Given the description of an element on the screen output the (x, y) to click on. 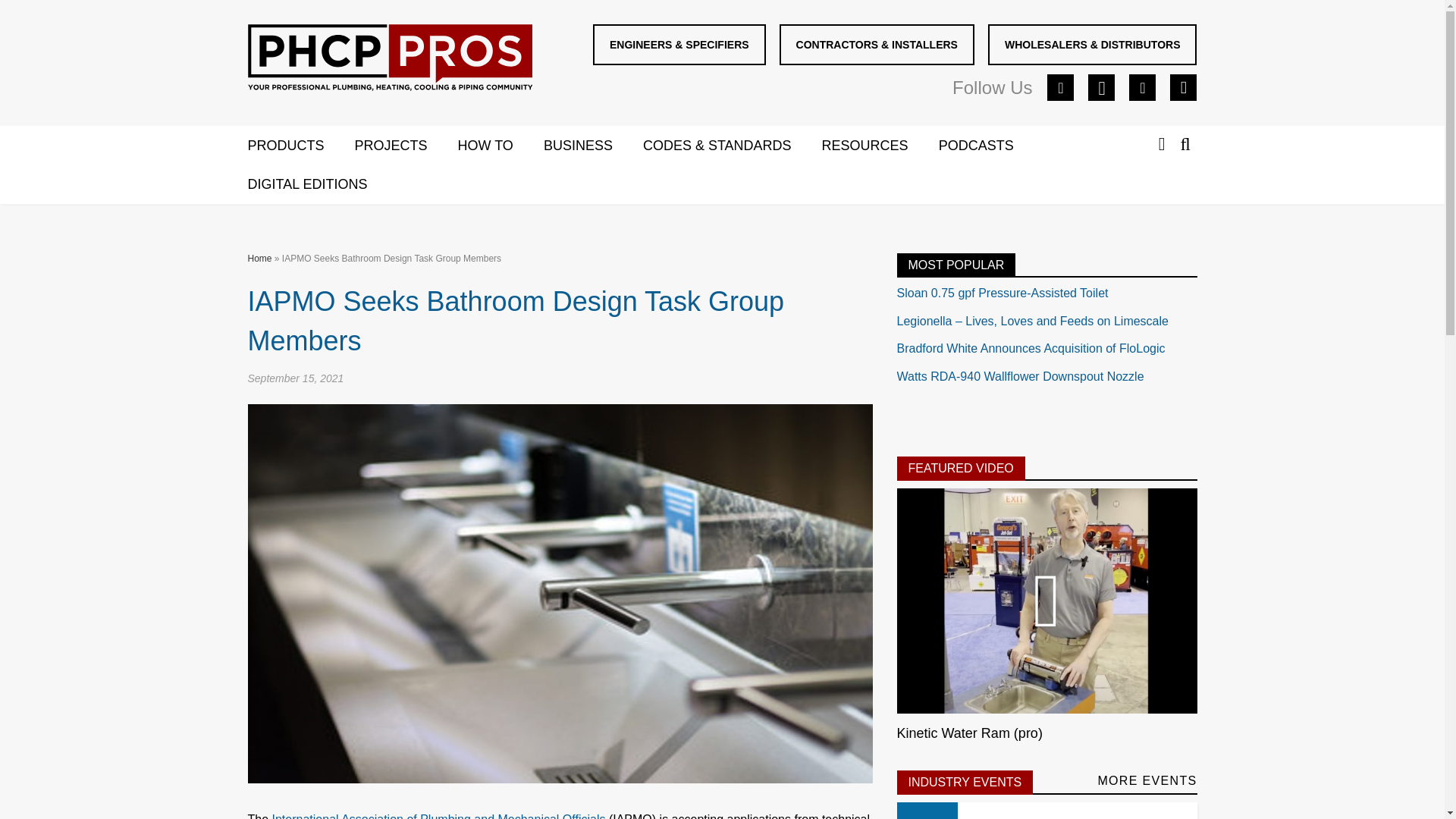
PRODUCTS (300, 146)
BUSINESS (593, 146)
logo (389, 57)
HOW TO (500, 146)
logo (389, 60)
PROJECTS (406, 146)
